Given the description of an element on the screen output the (x, y) to click on. 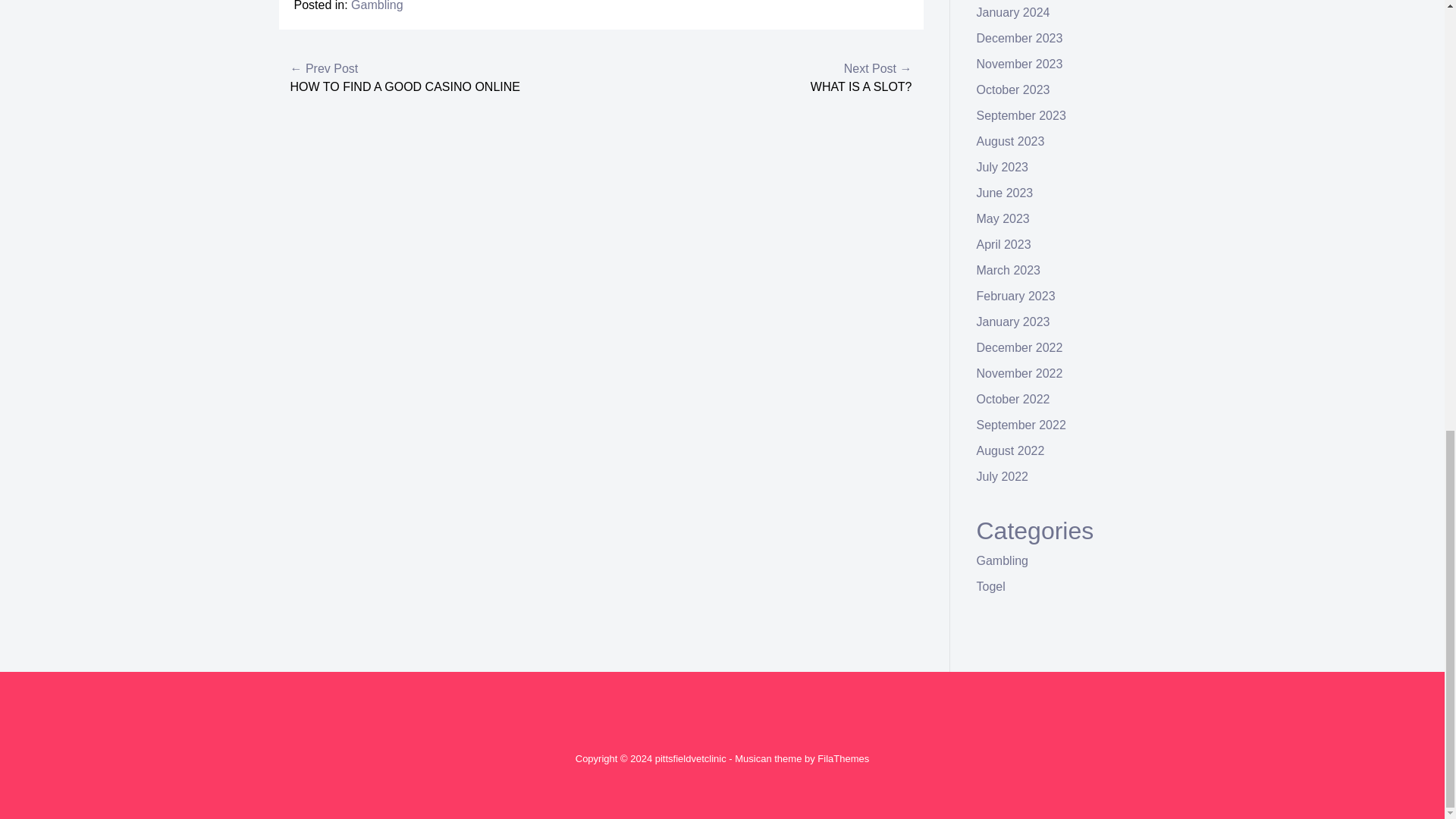
March 2023 (1008, 269)
Gambling (376, 5)
May 2023 (1002, 218)
April 2023 (1003, 244)
December 2023 (1019, 38)
July 2023 (1002, 166)
June 2023 (1004, 192)
October 2023 (1012, 89)
January 2024 (1012, 11)
pittsfieldvetclinic (690, 758)
